Given the description of an element on the screen output the (x, y) to click on. 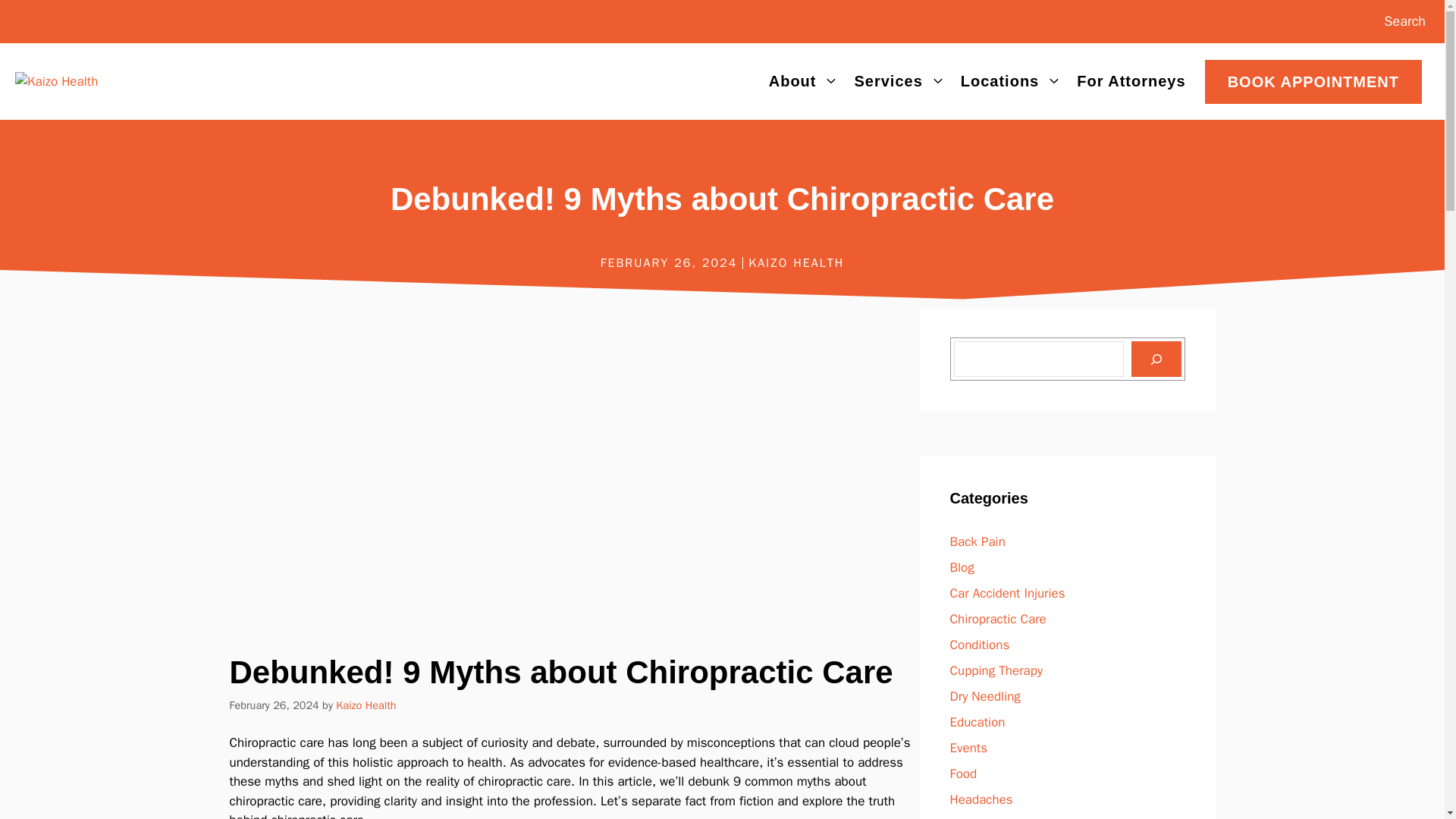
About (804, 81)
Locations (1010, 81)
View all posts by Kaizo Health (366, 704)
Services (898, 81)
Search (1404, 21)
